Given the description of an element on the screen output the (x, y) to click on. 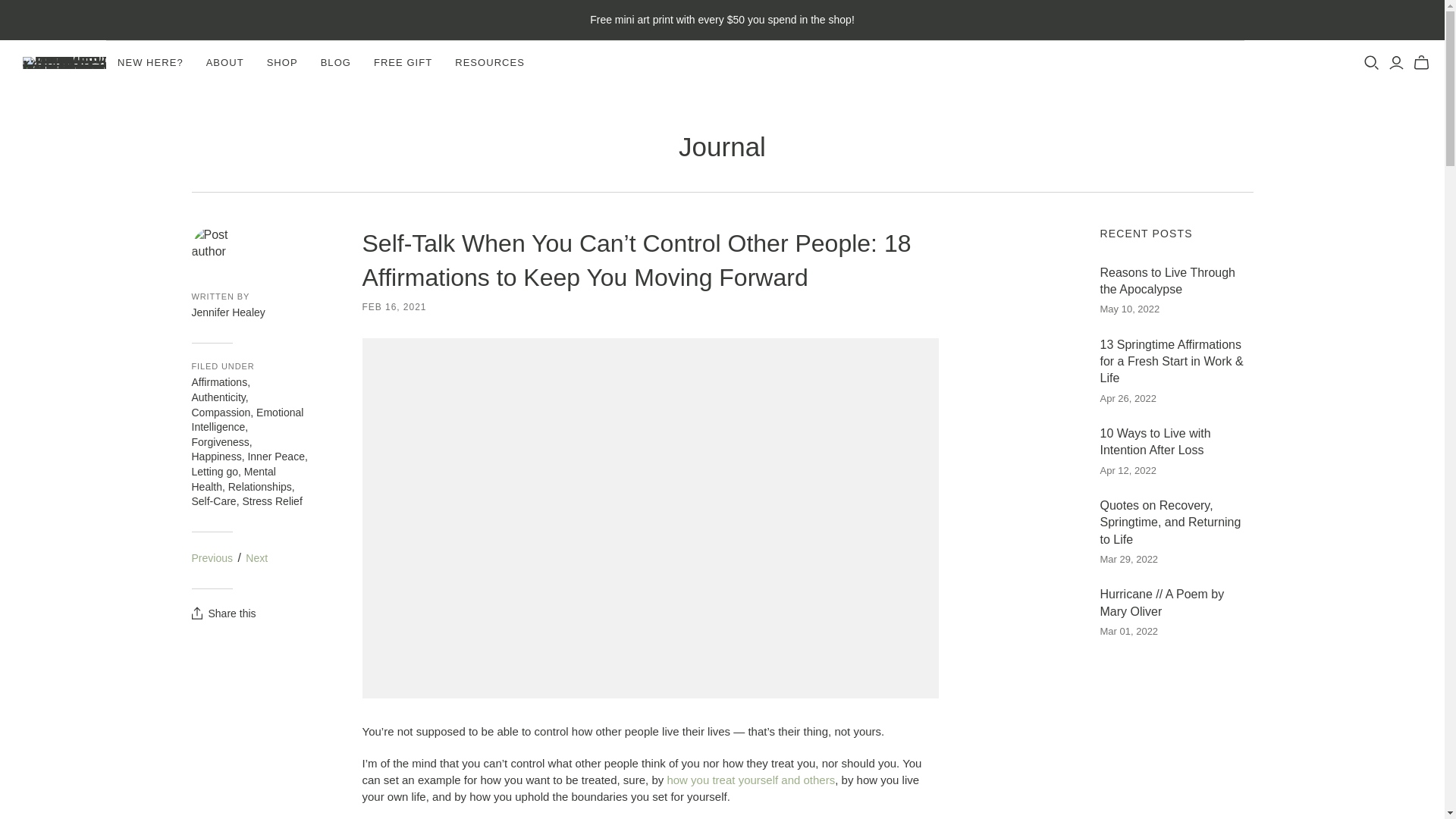
Self-Care (212, 500)
RESOURCES (489, 63)
NEW HERE? (150, 63)
Compassion (220, 412)
Authenticity (217, 397)
Emotional Intelligence (246, 420)
Affirmations (218, 381)
SHOP (282, 63)
Mental Health (232, 479)
FREE GIFT (403, 63)
